Given the description of an element on the screen output the (x, y) to click on. 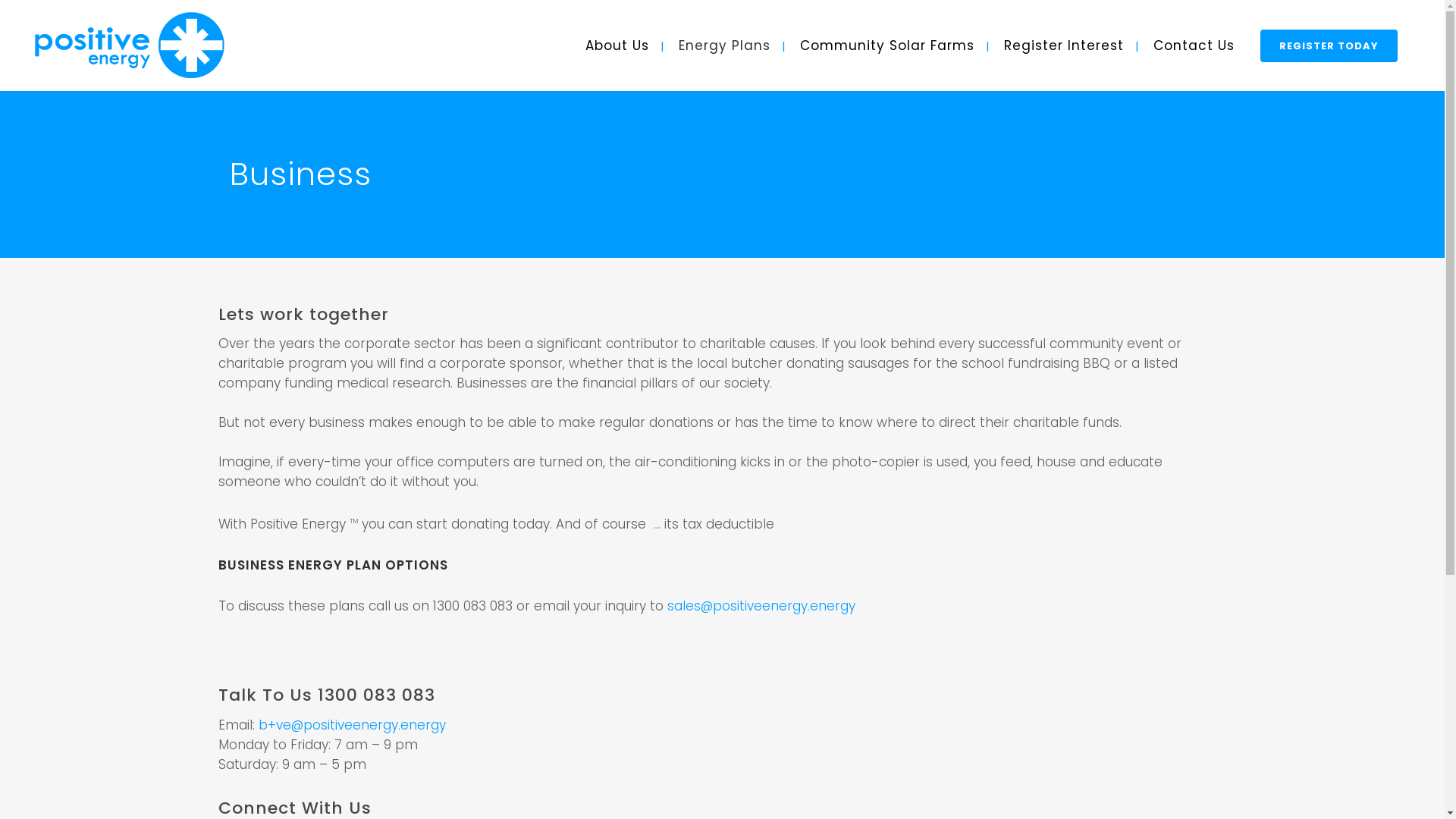
Contact Us Element type: text (1193, 45)
Community Solar Farms Element type: text (887, 45)
About Us Element type: text (617, 45)
sales@positiveenergy.energy Element type: text (761, 605)
BUSINESS ENERGY PLAN OPTIONS Element type: text (333, 564)
b+ve@positiveenergy.energy Element type: text (351, 724)
Energy Plans Element type: text (724, 45)
1300 083 083 Element type: text (375, 694)
REGISTER TODAY Element type: text (1328, 44)
Register Interest Element type: text (1063, 45)
